Given the description of an element on the screen output the (x, y) to click on. 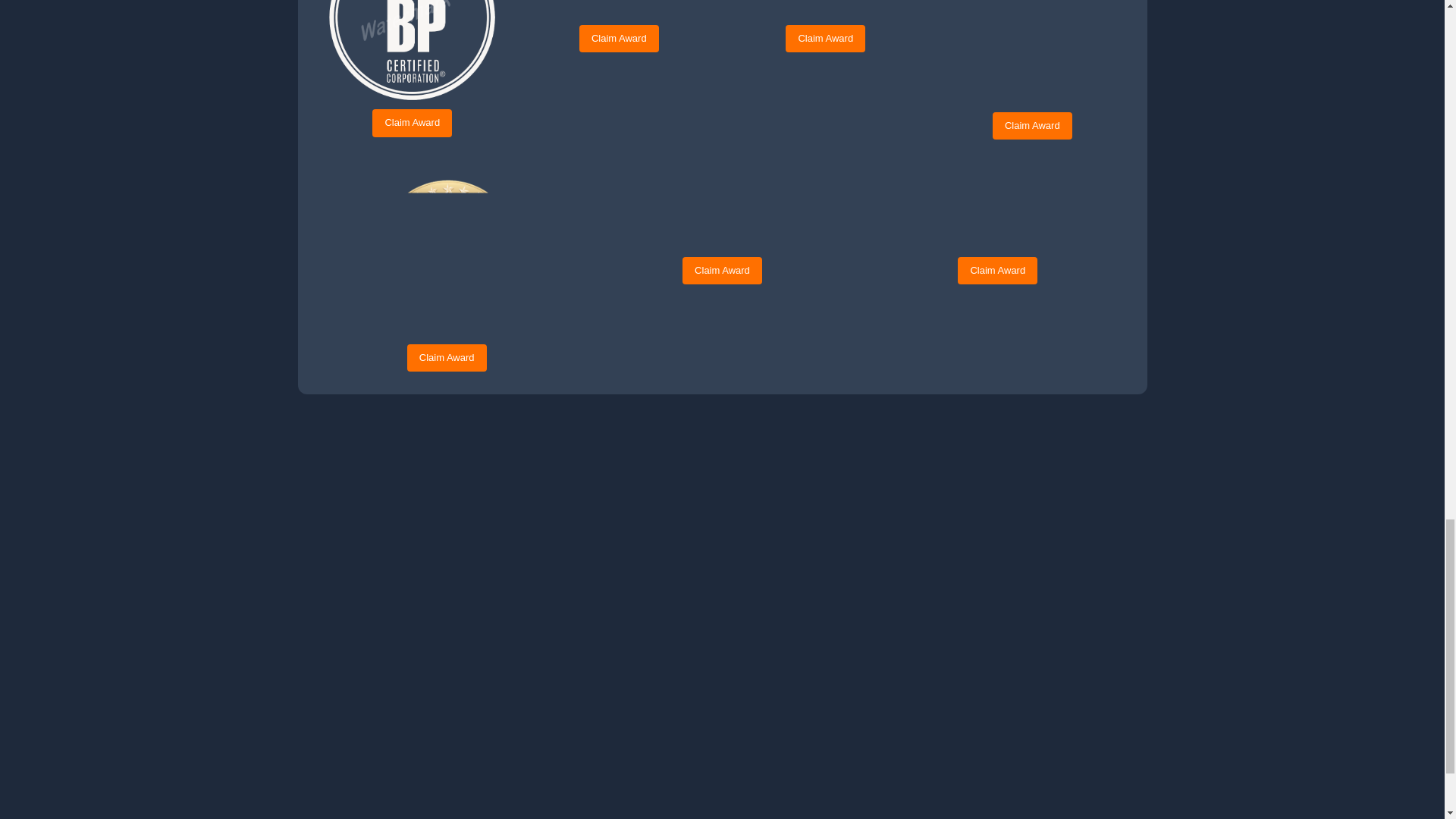
Claim Award (825, 38)
Claim Award (1031, 125)
Claim Award (619, 38)
Claim Award (411, 122)
